Given the description of an element on the screen output the (x, y) to click on. 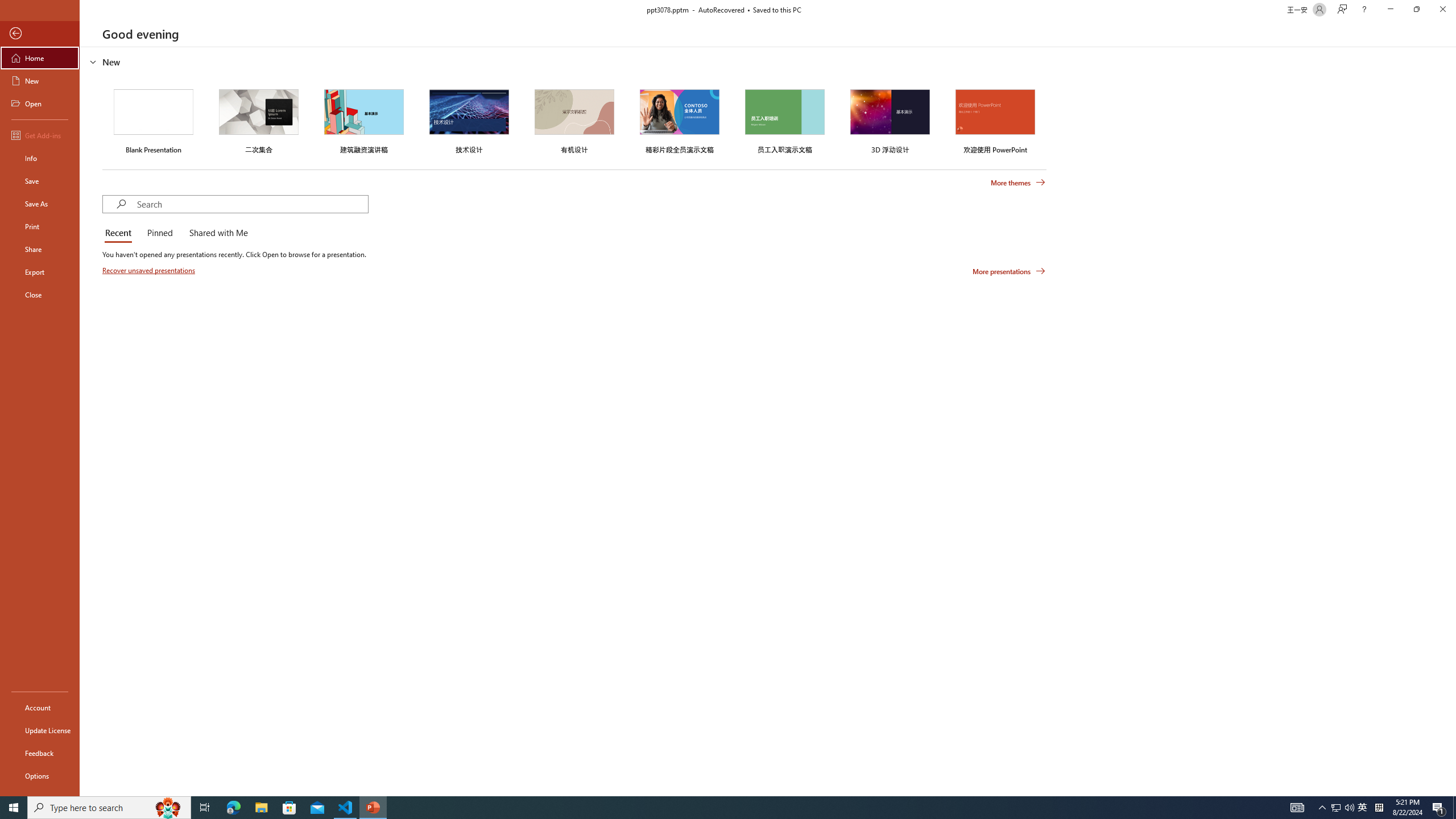
Recover unsaved presentations (149, 270)
More presentations (1008, 270)
Print (40, 225)
Options (40, 775)
Get Add-ins (40, 134)
Back (40, 33)
